Given the description of an element on the screen output the (x, y) to click on. 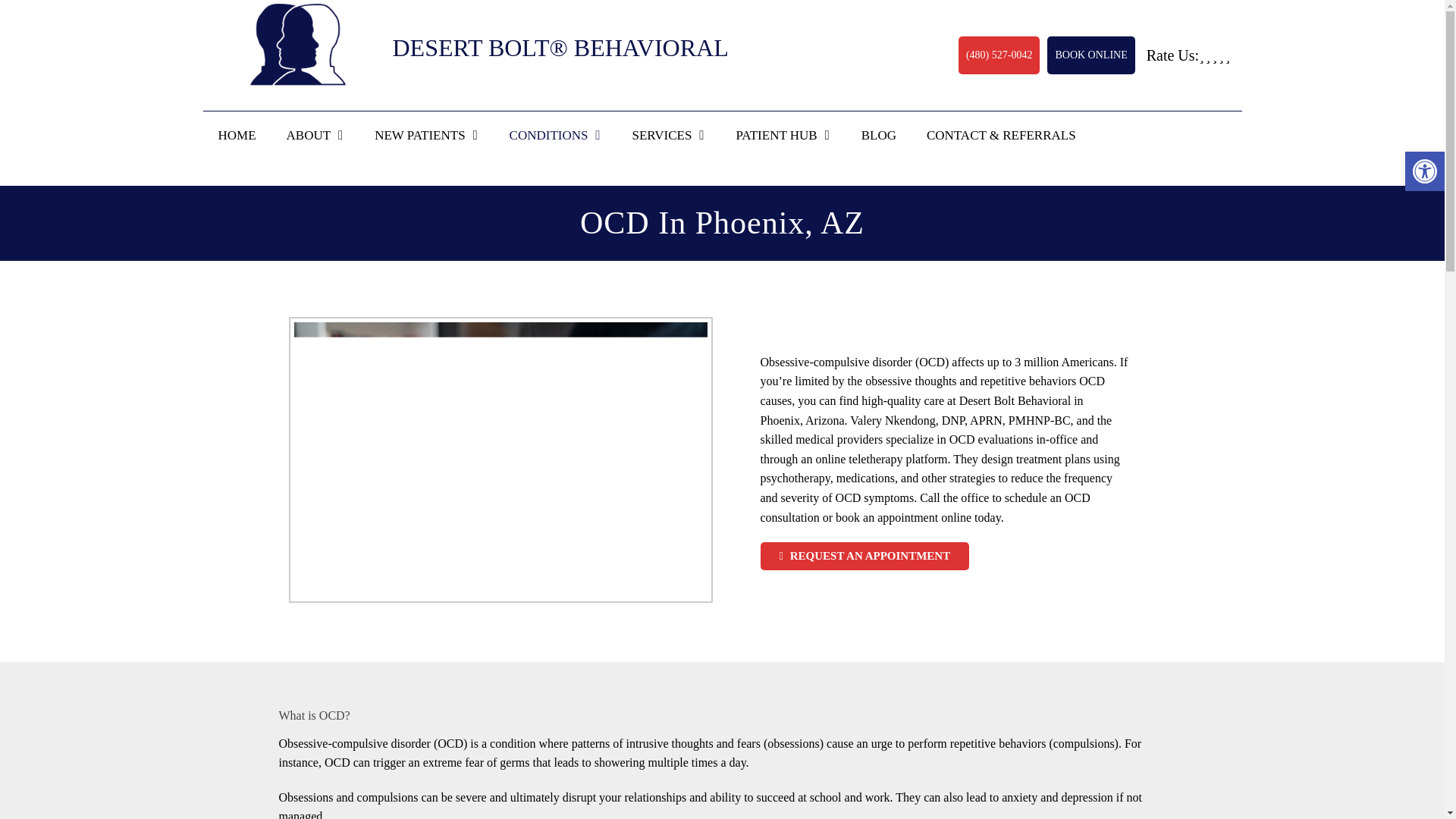
Accessibility Tools (1424, 170)
SERVICES (668, 134)
HOME (236, 134)
ABOUT (314, 134)
BOOK ONLINE (1090, 55)
NEW PATIENTS (426, 134)
CONDITIONS (556, 134)
